Given the description of an element on the screen output the (x, y) to click on. 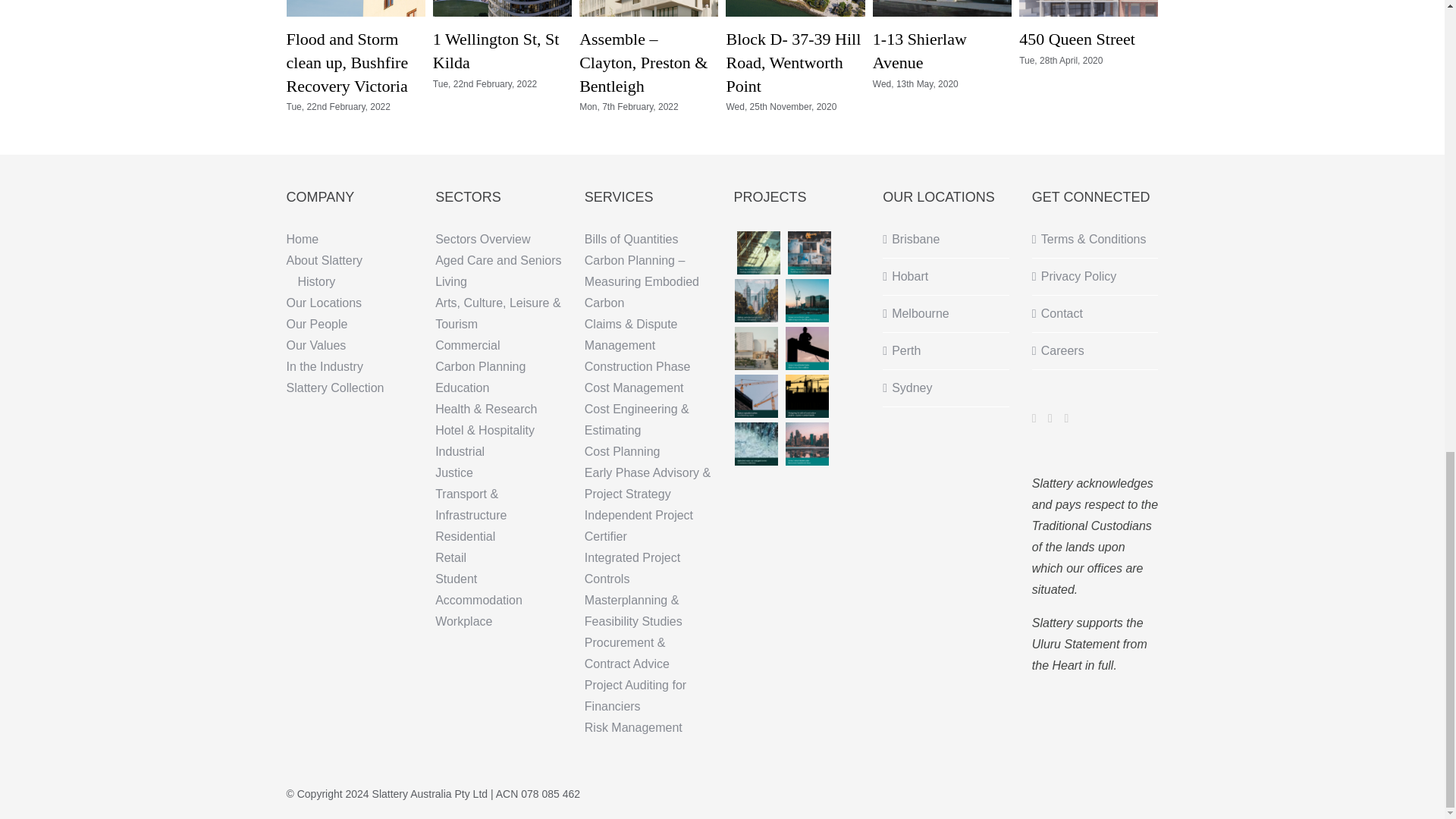
Flood and Storm clean up, Bushfire Recovery Victoria (347, 62)
Slattery embodied carbon: Retrofitting reimagined (755, 300)
1 Wellington St, St Kilda (495, 50)
Block D- 37-39 Hill Road, Wentworth Point (792, 62)
1-13 Shierlaw Avenue (919, 50)
450 Queen Street (1077, 38)
